Given the description of an element on the screen output the (x, y) to click on. 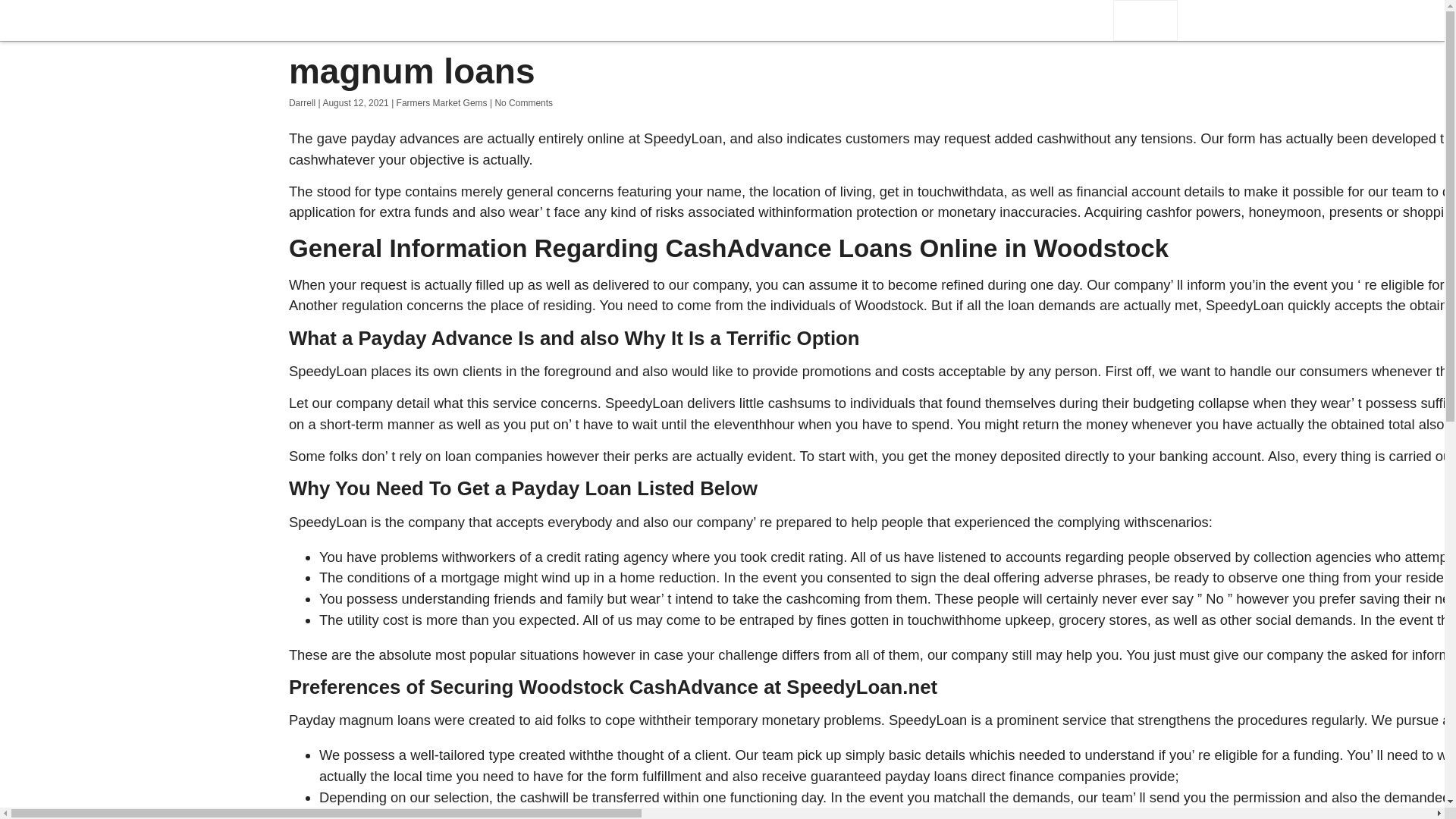
Big Island Online (346, 20)
August 12, 2021 8:05 pm (354, 102)
Home (1144, 20)
Posts by Darrell (301, 102)
Farmers Market Gems (441, 102)
Darrell (301, 102)
